Given the description of an element on the screen output the (x, y) to click on. 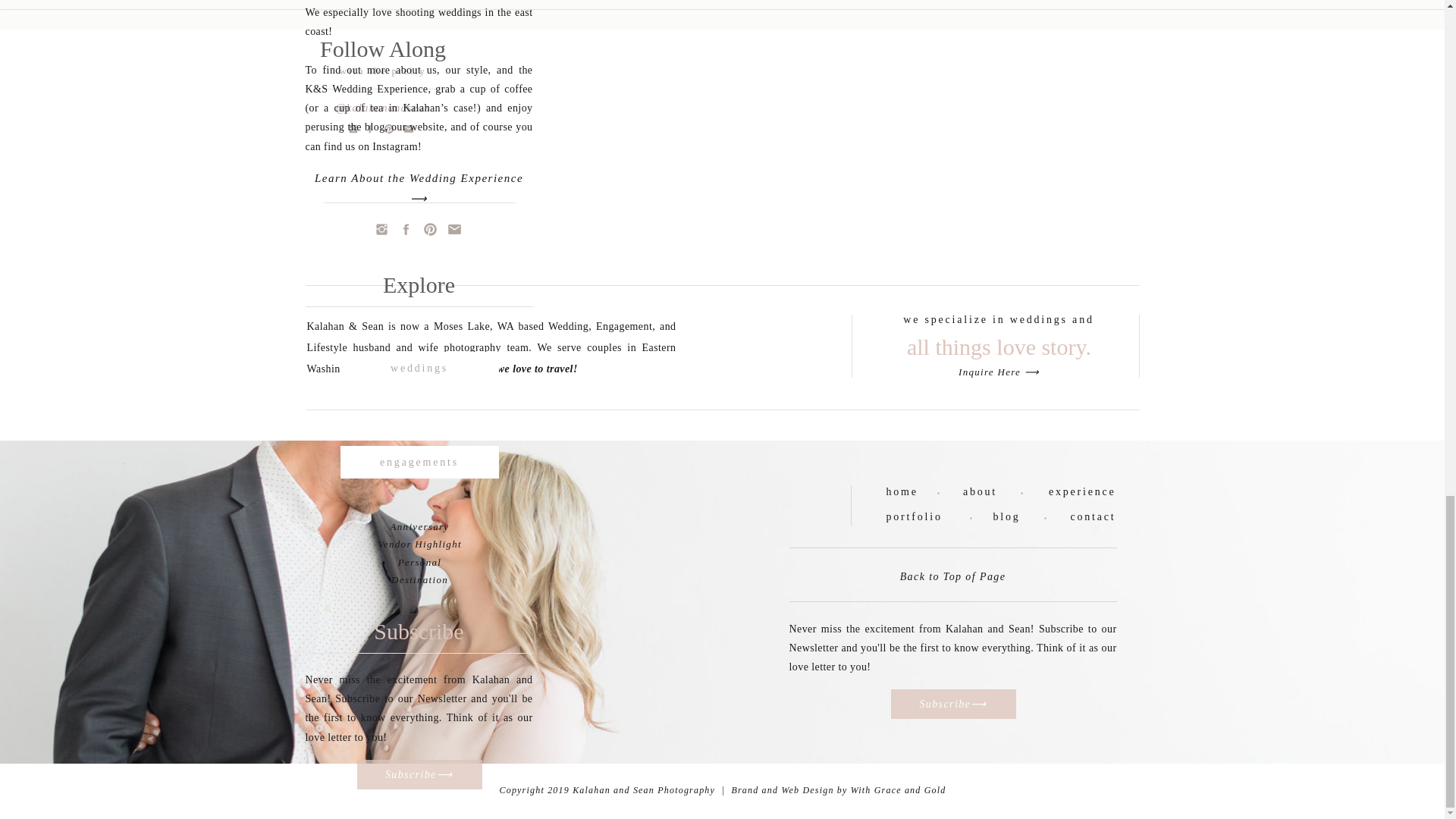
engagements (419, 461)
Anniversary (419, 526)
Vendor Highlight (419, 543)
weddings (419, 367)
Destination (419, 579)
Personal (419, 562)
